Given the description of an element on the screen output the (x, y) to click on. 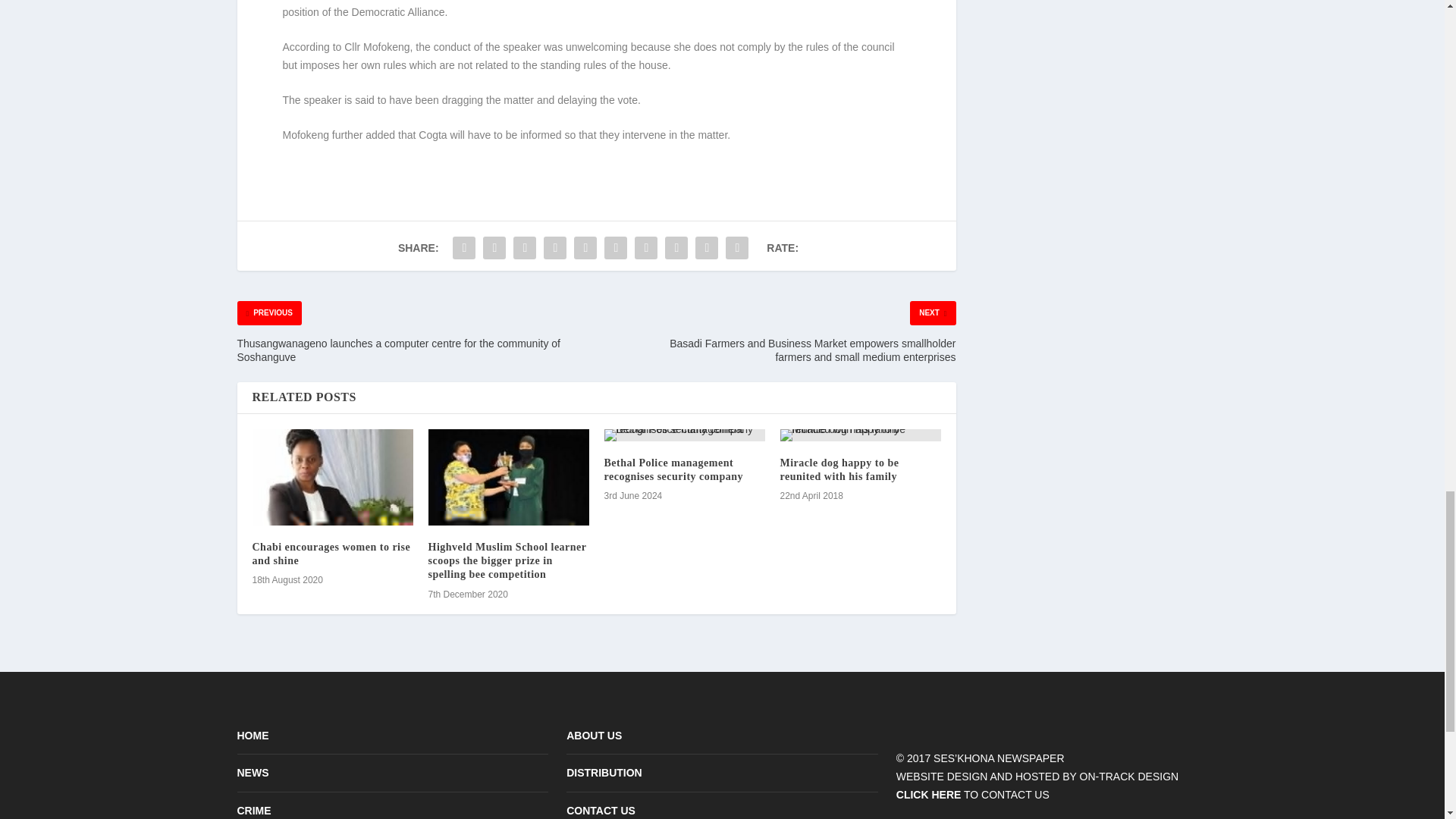
Chabi encourages women to rise and shine (330, 553)
Chabi encourages women to rise and shine (331, 477)
Bethal Police management recognises security company (673, 469)
Miracle dog happy to be reunited with his family (838, 469)
